Given the description of an element on the screen output the (x, y) to click on. 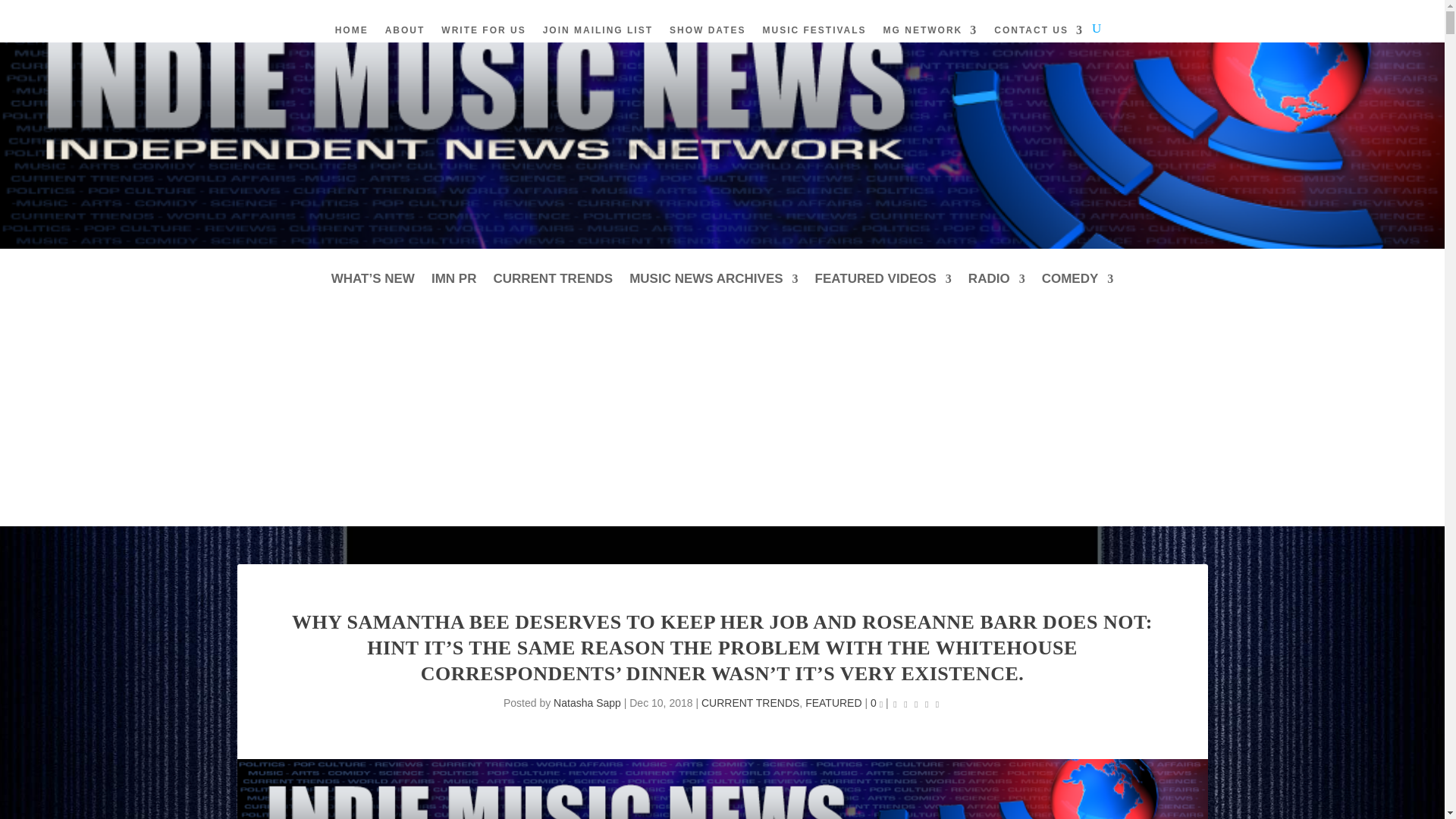
CONTACT US (1038, 41)
HOME (351, 41)
IMN PR (453, 289)
MG NETWORK (930, 41)
Rating: 0.00 (915, 703)
SHOW DATES (707, 41)
ABOUT (405, 41)
Posts by Natasha Sapp (587, 702)
MUSIC FESTIVALS (813, 41)
JOIN MAILING LIST (597, 41)
WRITE FOR US (483, 41)
CURRENT TRENDS (552, 289)
